Given the description of an element on the screen output the (x, y) to click on. 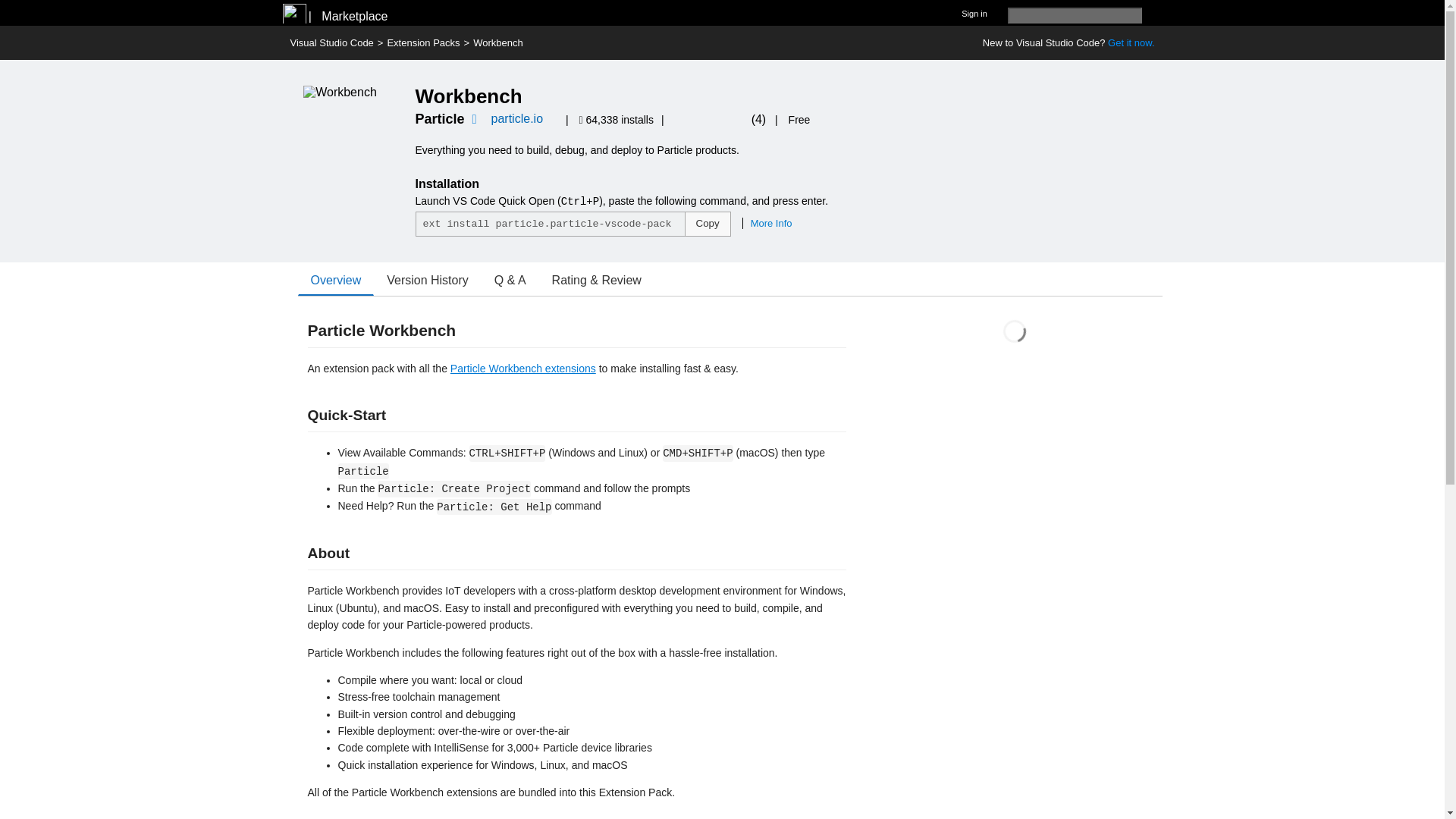
Copy to clipboard (707, 223)
More Info (767, 223)
Particle Workbench extensions (522, 368)
particle.io (517, 118)
Extension Packs (423, 42)
ext install particle.particle-vscode-pack (549, 223)
Get it now. (1131, 42)
Overview (335, 280)
Version History (427, 280)
Particle (439, 118)
The number of unique installations, not including updates. (618, 119)
Copy (707, 223)
Sign in (973, 13)
Average rating: 3.2 out of 5 (716, 119)
Visual Studio Code (330, 42)
